Given the description of an element on the screen output the (x, y) to click on. 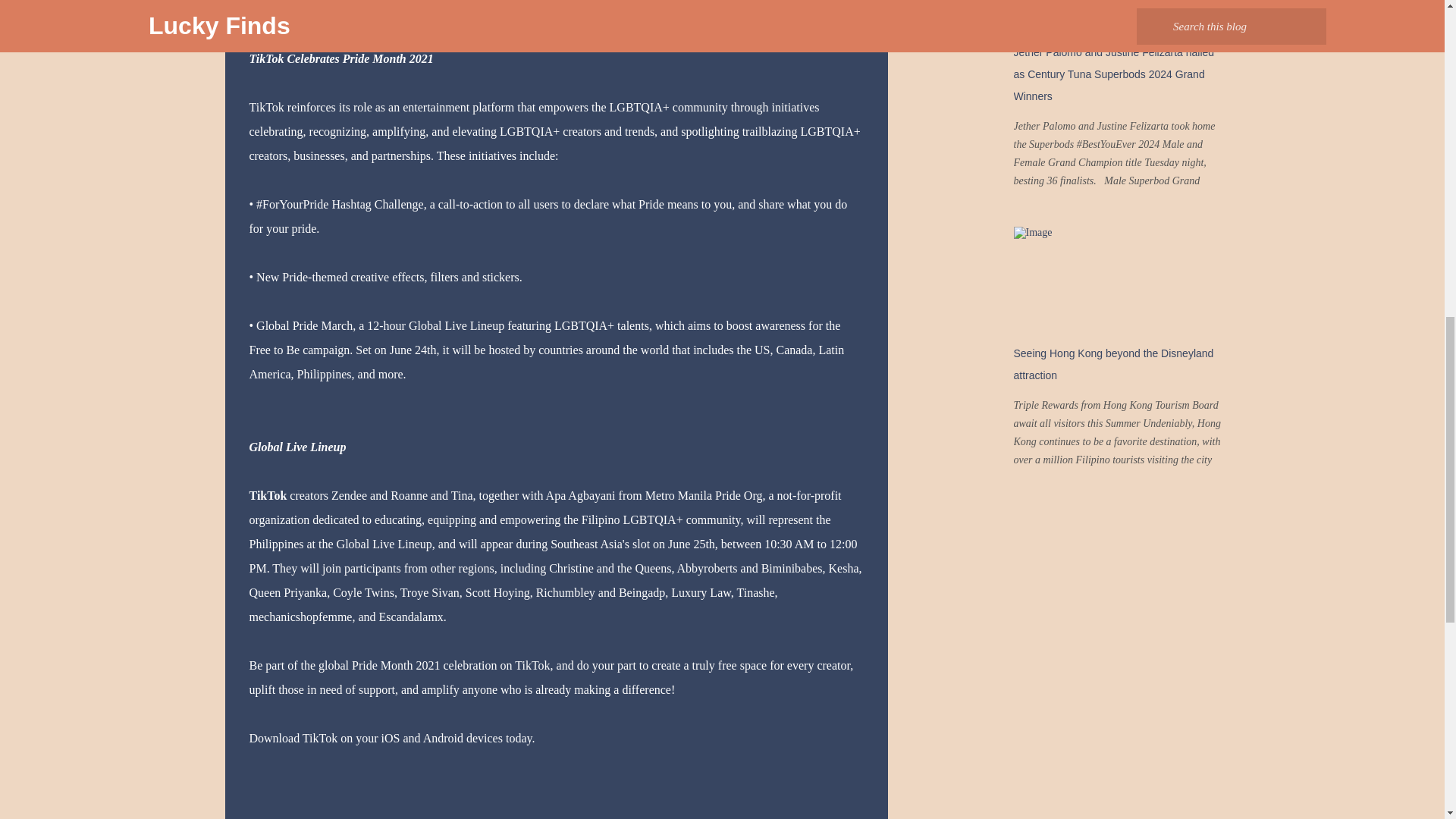
Advertisement (964, 31)
Seeing Hong Kong beyond the Disneyland attraction (1112, 364)
